Given the description of an element on the screen output the (x, y) to click on. 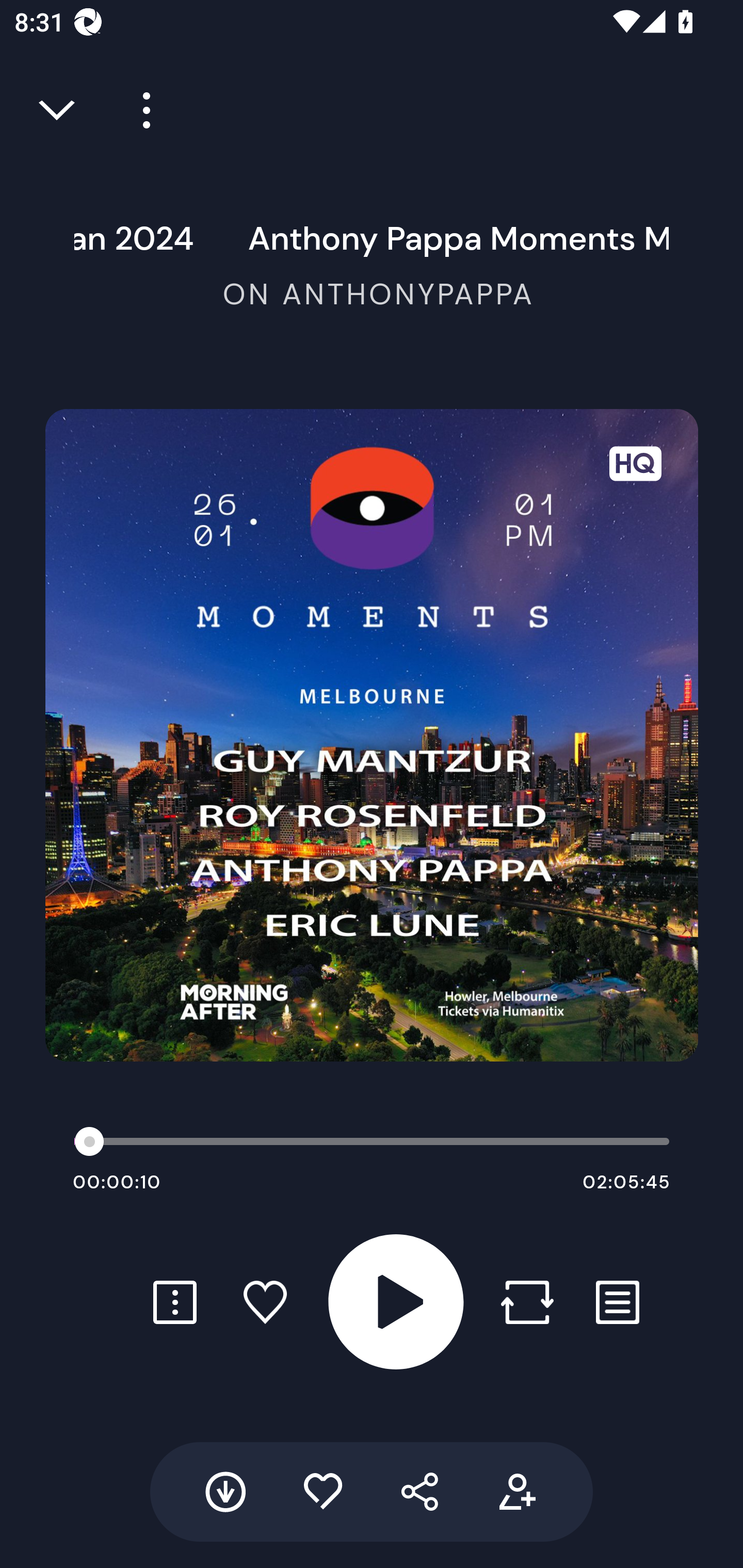
Close full player (58, 110)
Player more options button (139, 110)
Repost button (527, 1301)
